Given the description of an element on the screen output the (x, y) to click on. 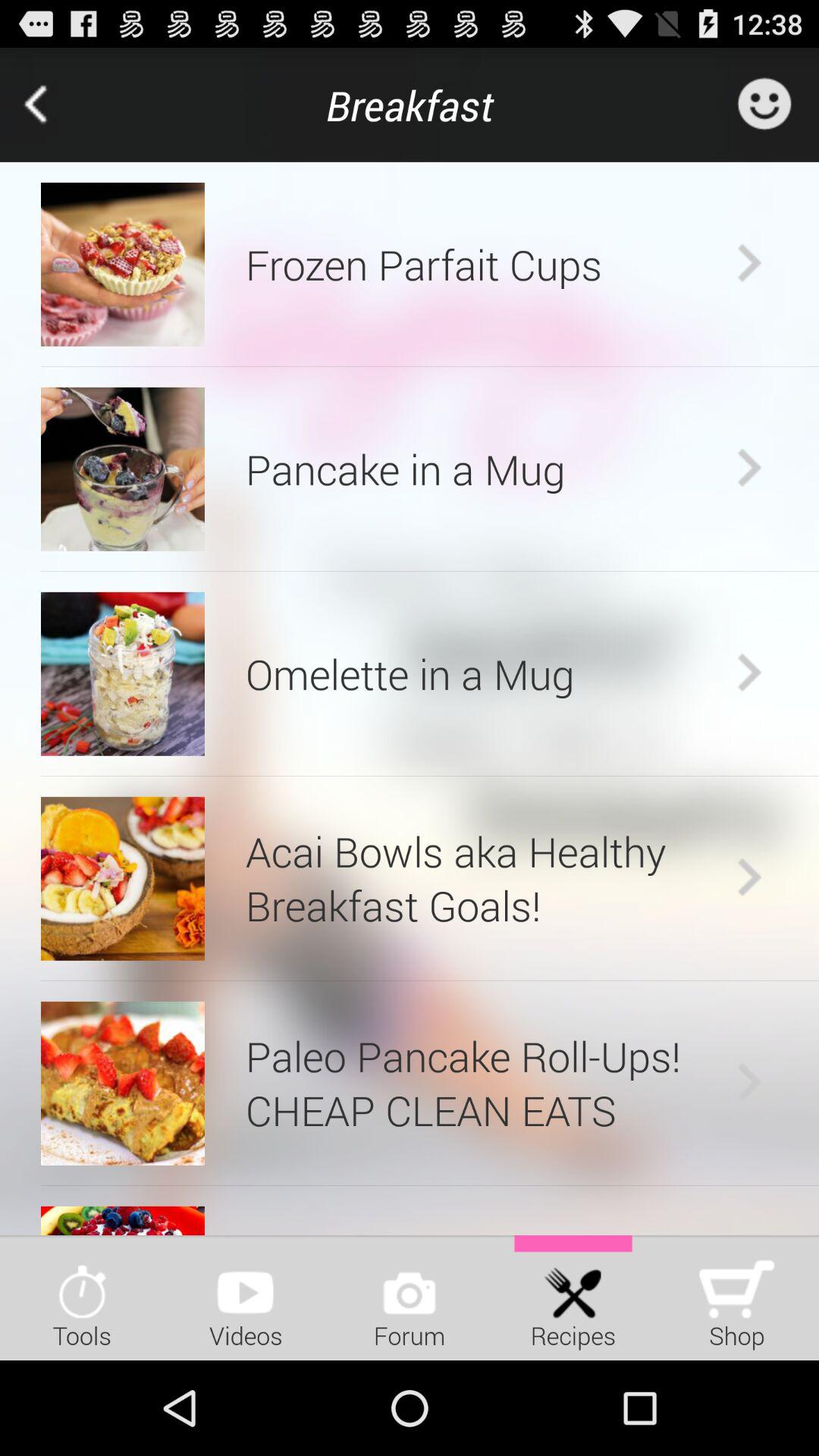
turn on icon to the left of rainbow pancakes  item (122, 1220)
